Given the description of an element on the screen output the (x, y) to click on. 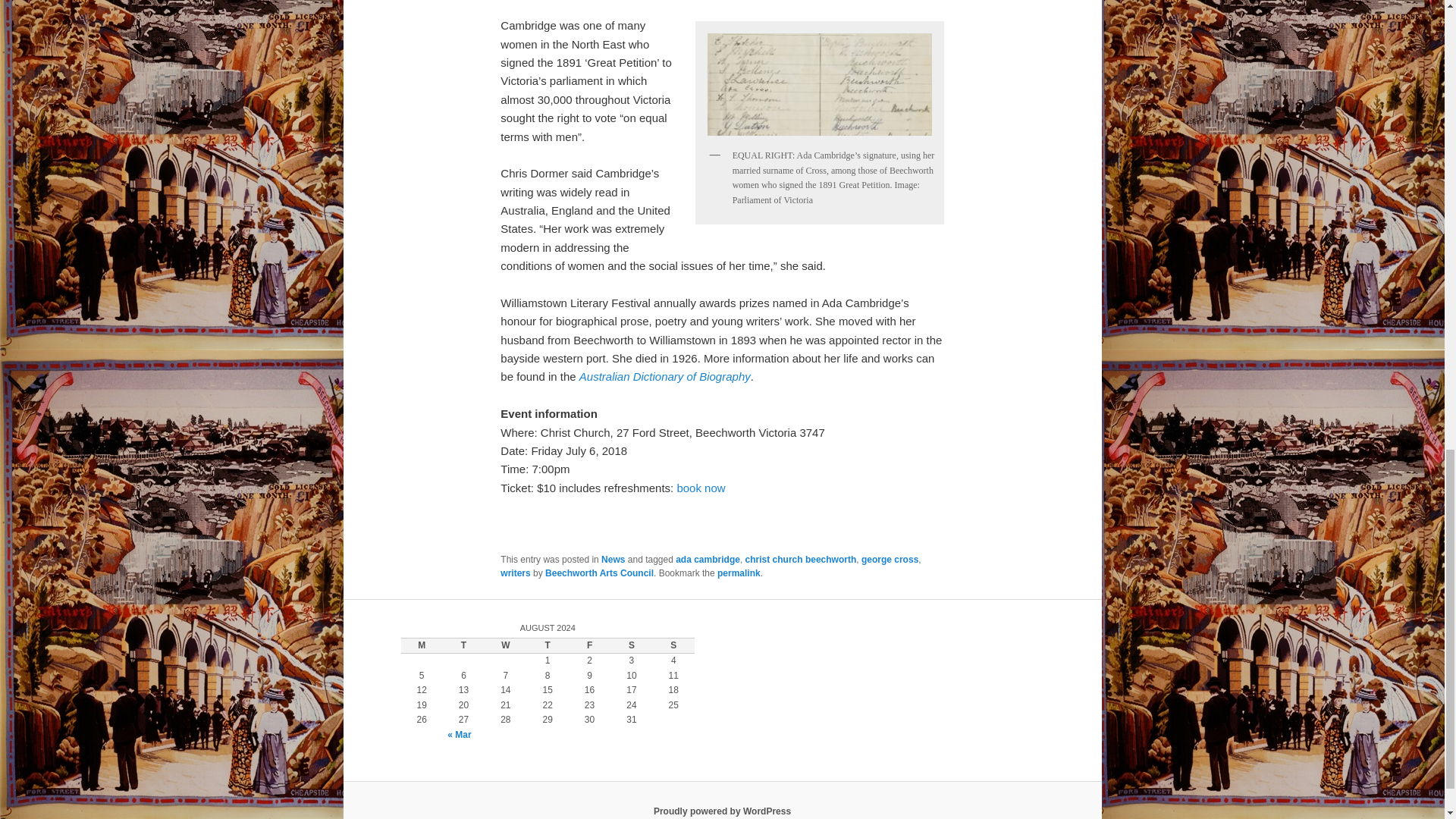
Tuesday (463, 646)
Permalink to Take sherry with Ada on Friday (738, 573)
Page 2 (721, 340)
Monday (421, 646)
Semantic Personal Publishing Platform (721, 810)
Wednesday (504, 646)
Saturday (631, 646)
Thursday (548, 646)
Friday (589, 646)
Sunday (673, 646)
